Given the description of an element on the screen output the (x, y) to click on. 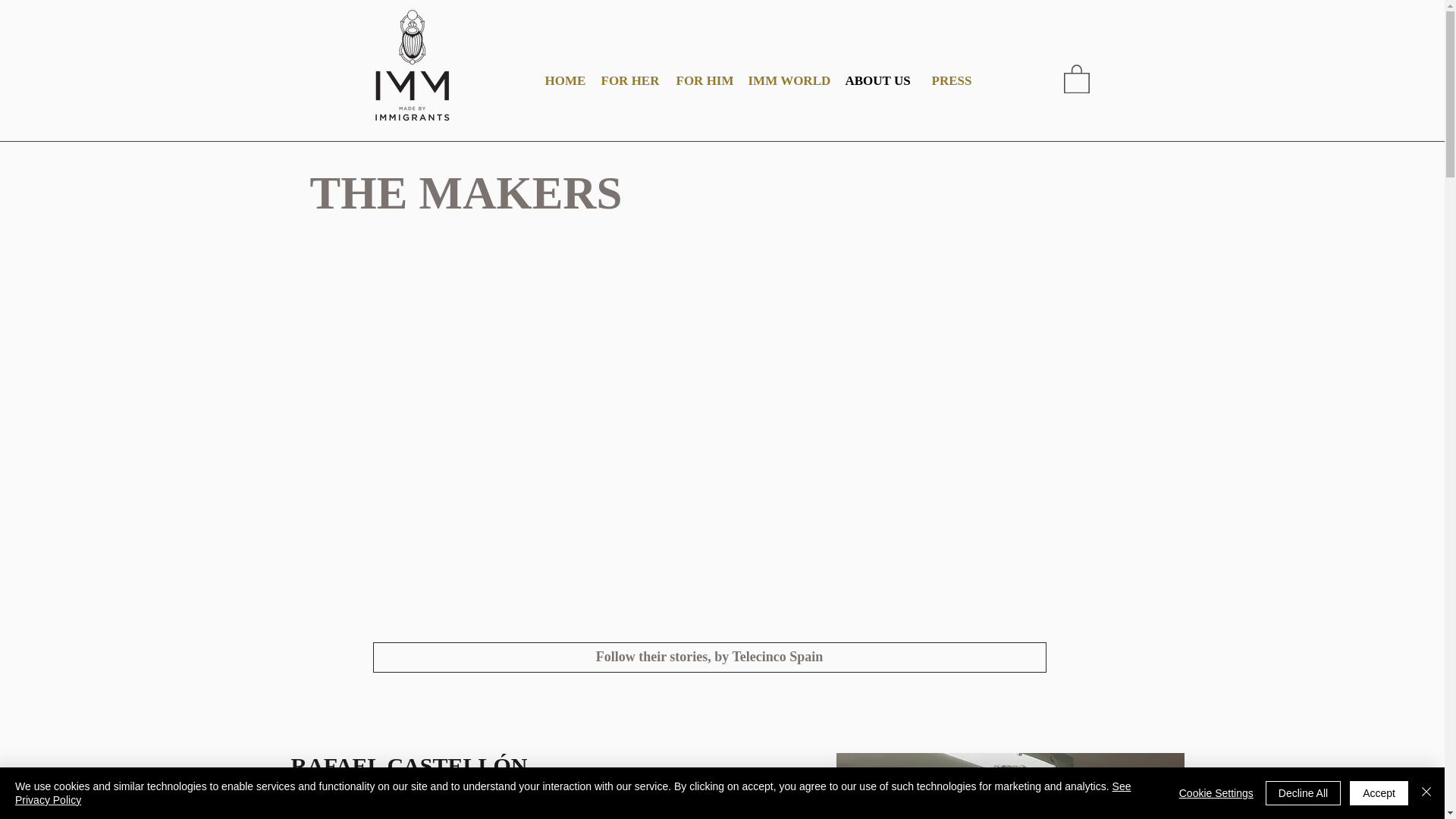
See Privacy Policy (572, 792)
Accept (1378, 793)
ABOUT US (880, 80)
Follow their stories, by Telecinco Spain (709, 657)
Decline All (1302, 793)
PRESS (952, 80)
HOME (564, 80)
